Given the description of an element on the screen output the (x, y) to click on. 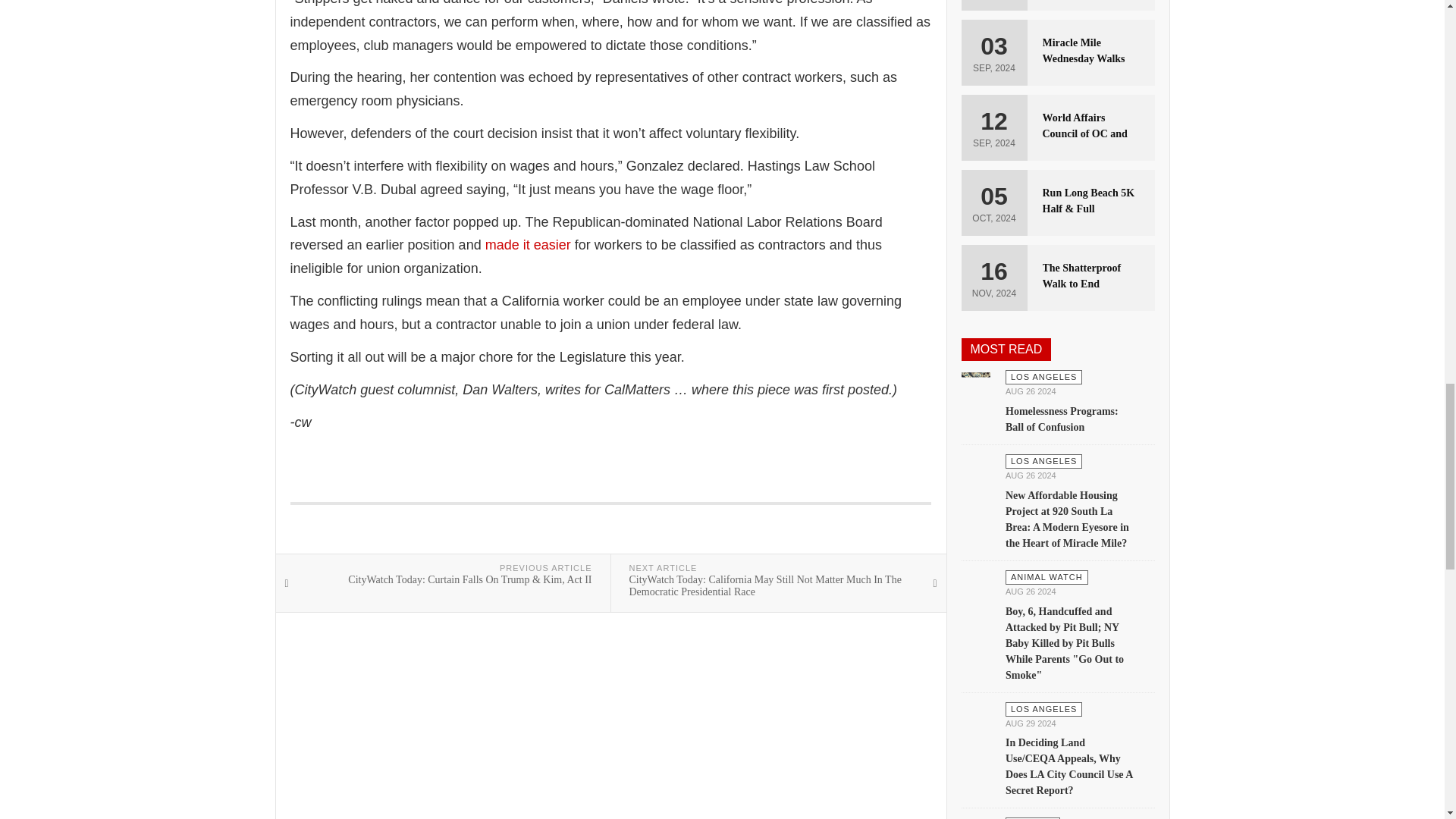
Category:  (1043, 377)
Category:  (1043, 708)
Category:  (1046, 577)
Category:  (1032, 818)
Category:  (1043, 461)
